Given the description of an element on the screen output the (x, y) to click on. 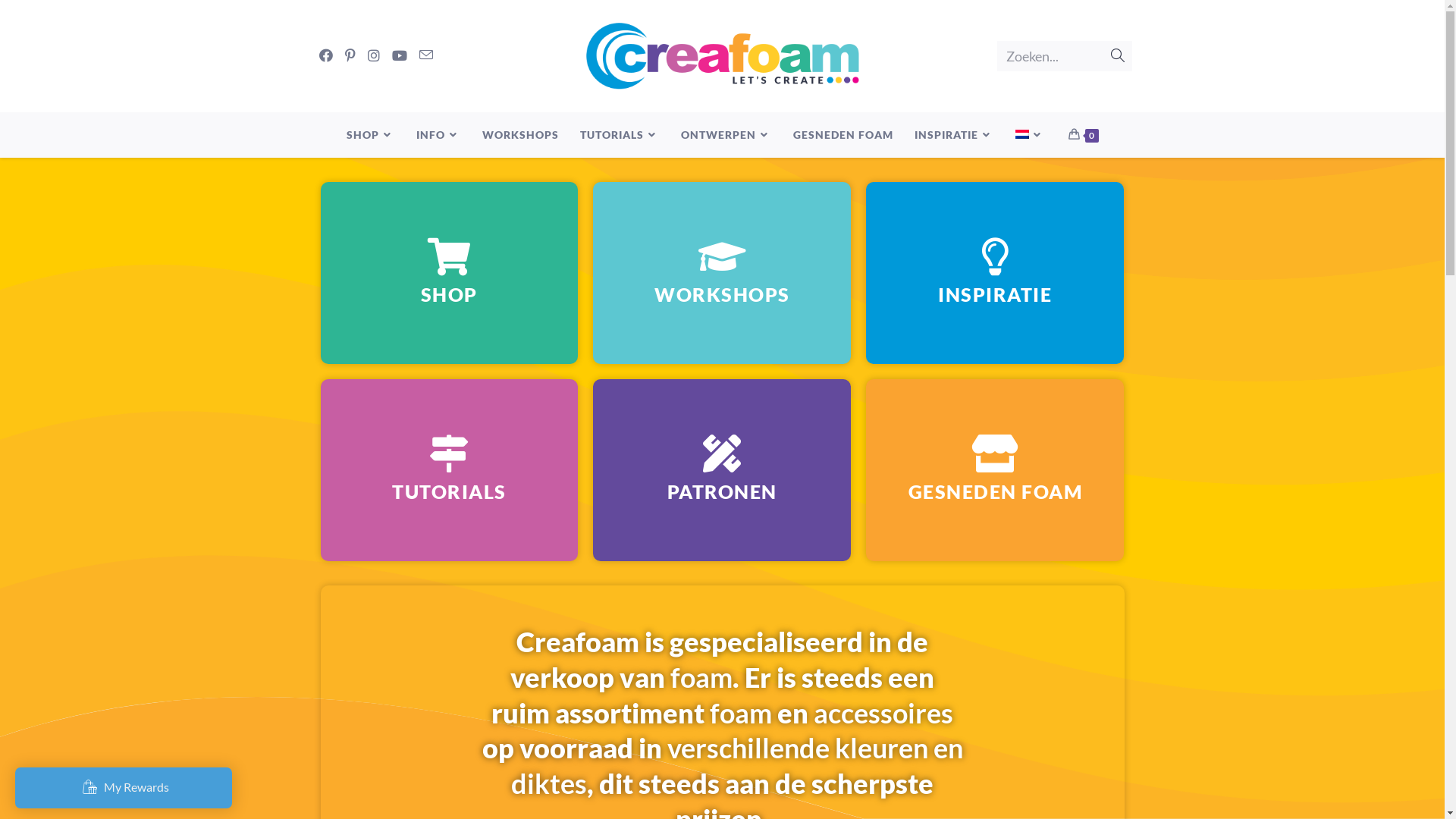
My Rewards Element type: text (123, 784)
SHOP Element type: text (448, 273)
WORKSHOPS Element type: text (721, 273)
0 Element type: text (1082, 134)
GESNEDEN FOAM Element type: text (842, 134)
TUTORIALS Element type: text (448, 470)
ONTWERPEN Element type: text (726, 134)
INFO Element type: text (437, 134)
PATRONEN Element type: text (721, 470)
TUTORIALS Element type: text (618, 134)
INSPIRATIE Element type: text (994, 273)
foam Element type: text (701, 676)
WORKSHOPS Element type: text (520, 134)
GESNEDEN FOAM Element type: text (994, 470)
ruim assortiment foam en accessoires Element type: text (722, 712)
My Rewards Element type: text (123, 787)
SHOP Element type: text (369, 134)
INSPIRATIE Element type: text (953, 134)
verschillende kleuren en diktes Element type: text (737, 765)
